Given the description of an element on the screen output the (x, y) to click on. 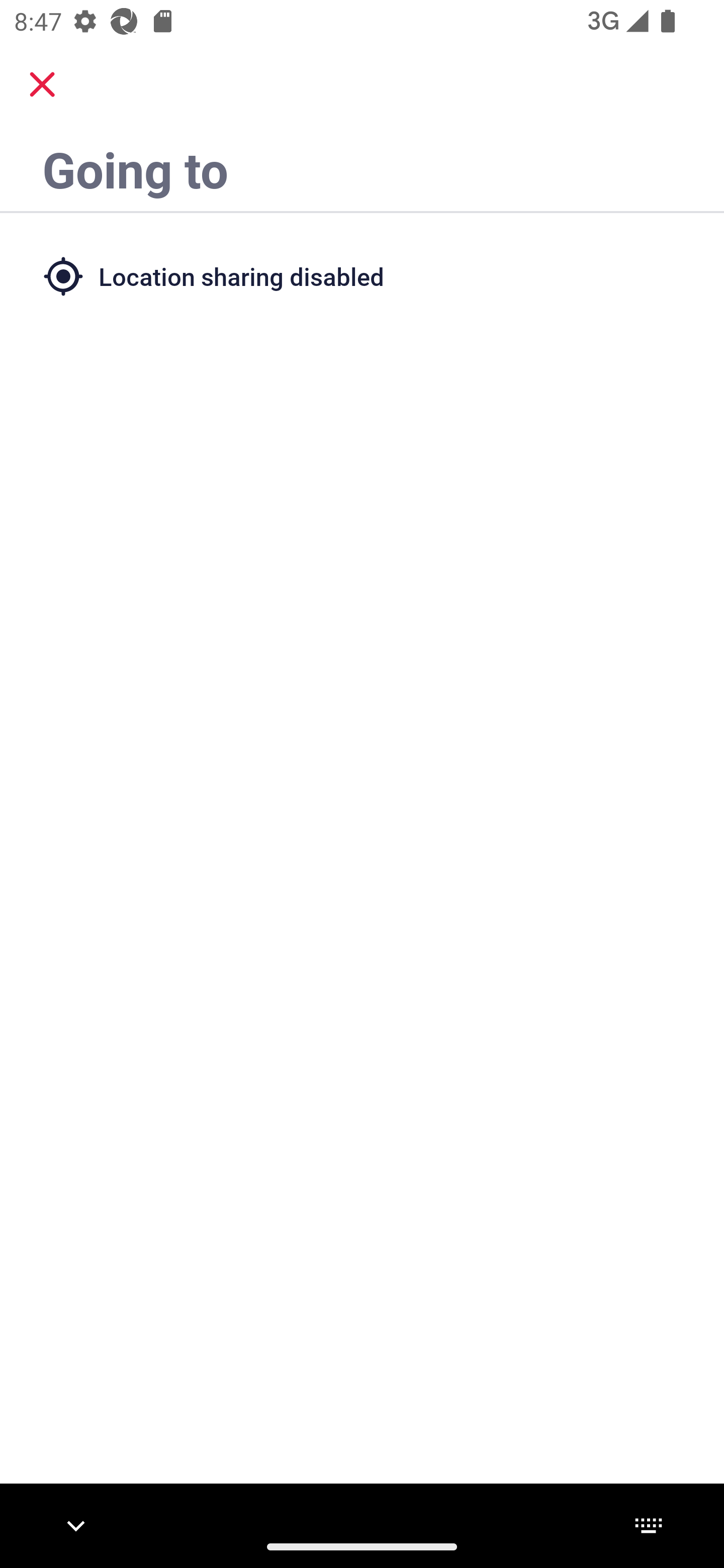
close. (42, 84)
Location sharing disabled (362, 275)
